Given the description of an element on the screen output the (x, y) to click on. 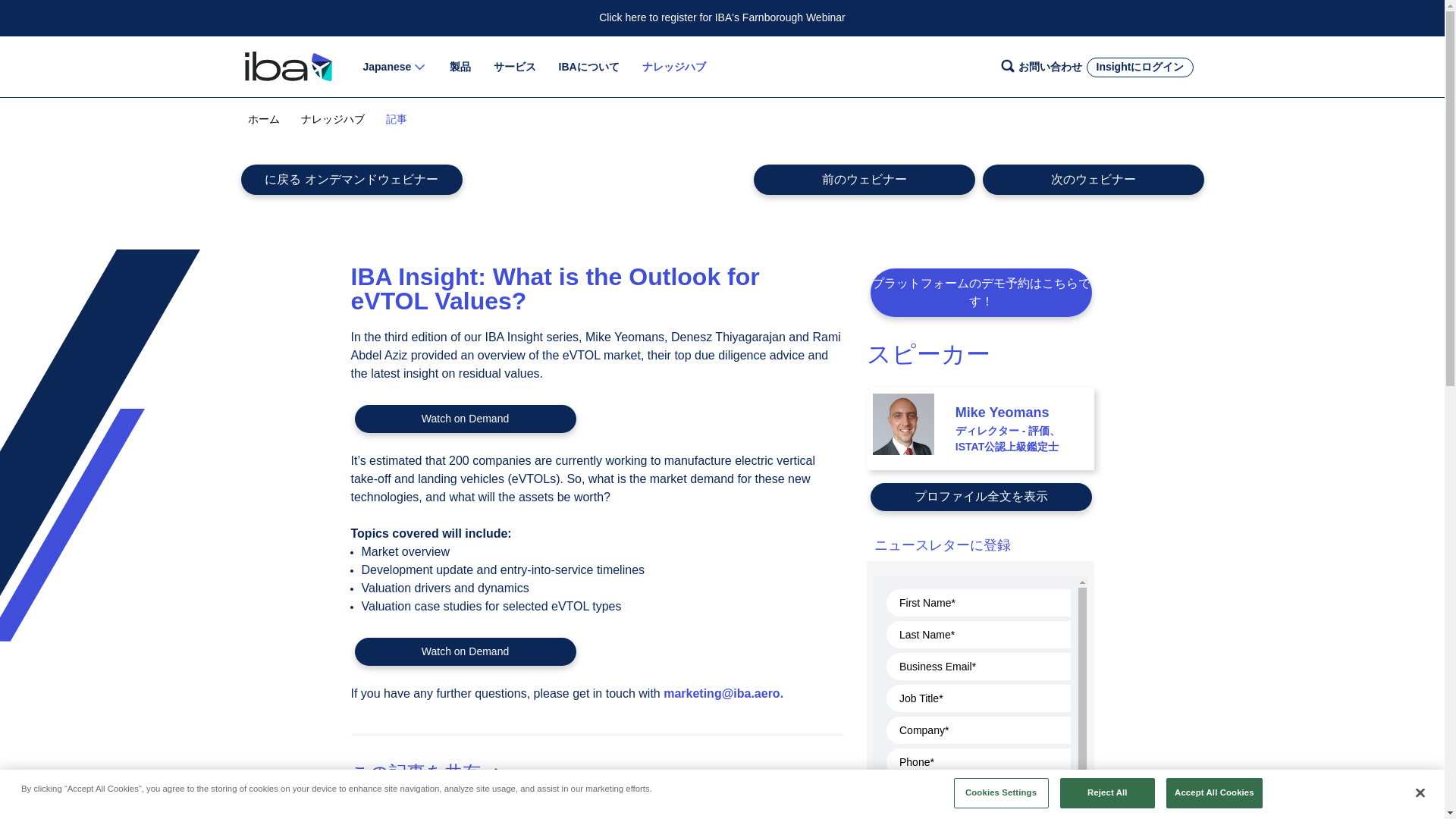
Japanese (386, 66)
Click here to register for IBA's Farnborough Webinar (721, 17)
